Given the description of an element on the screen output the (x, y) to click on. 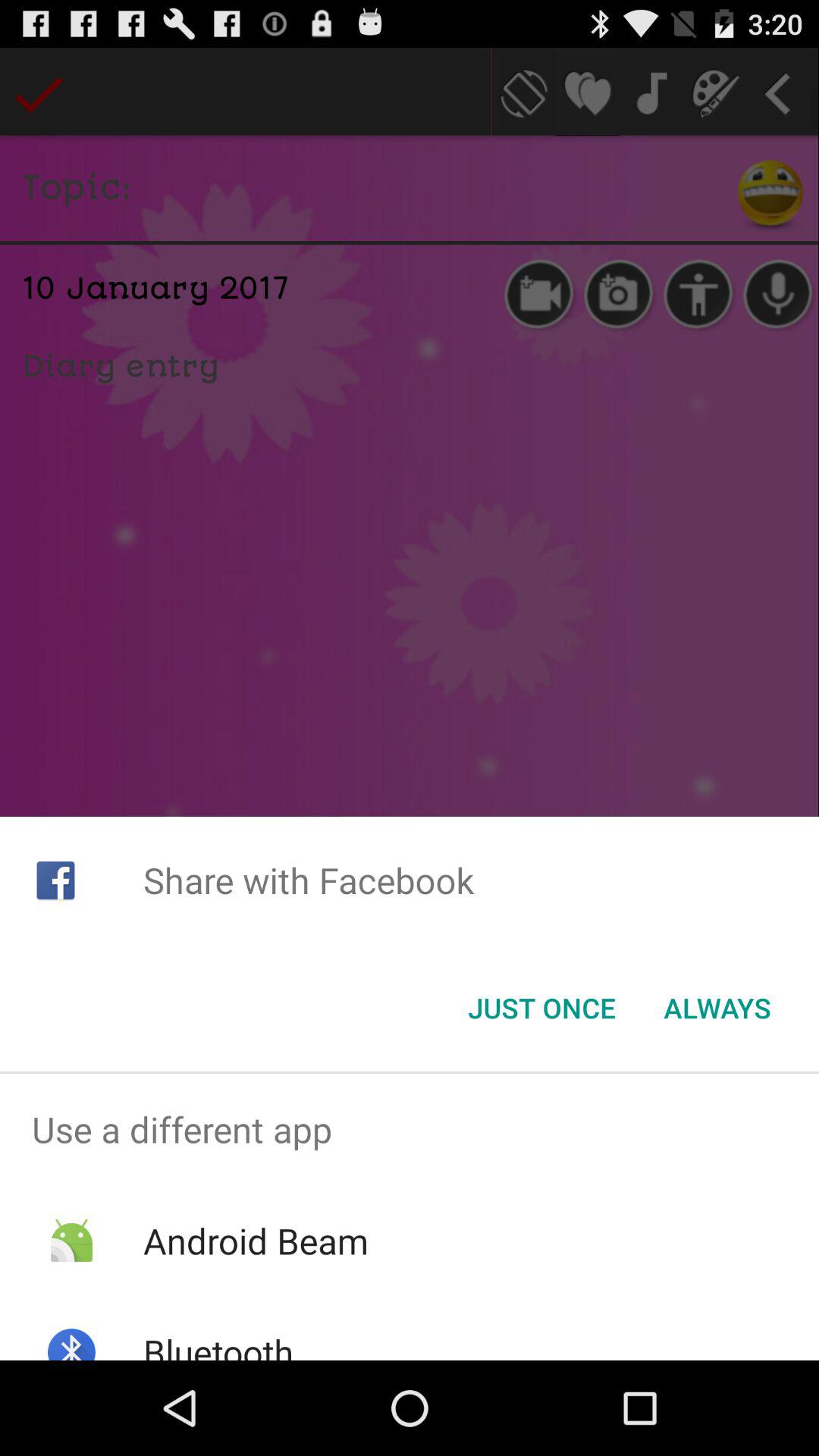
launch the item below use a different app (255, 1240)
